Given the description of an element on the screen output the (x, y) to click on. 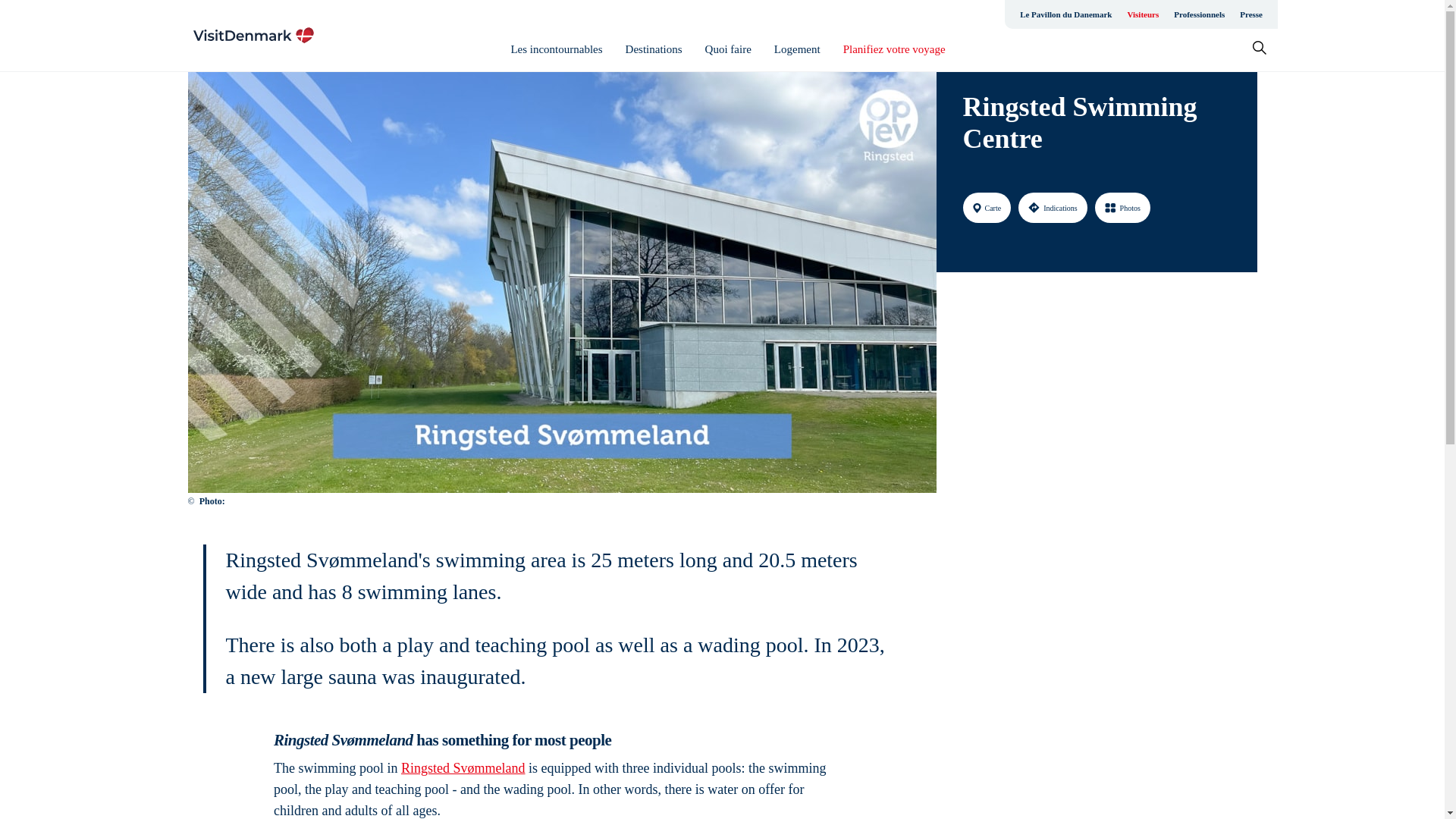
Le Pavillon du Danemark (1065, 14)
Visiteurs (1142, 14)
Professionnels (1198, 14)
Quoi faire (727, 49)
Photos (1122, 207)
Planifiez votre voyage (893, 49)
Logement (797, 49)
Carte (986, 207)
Les incontournables (556, 49)
Indications (1051, 207)
